Given the description of an element on the screen output the (x, y) to click on. 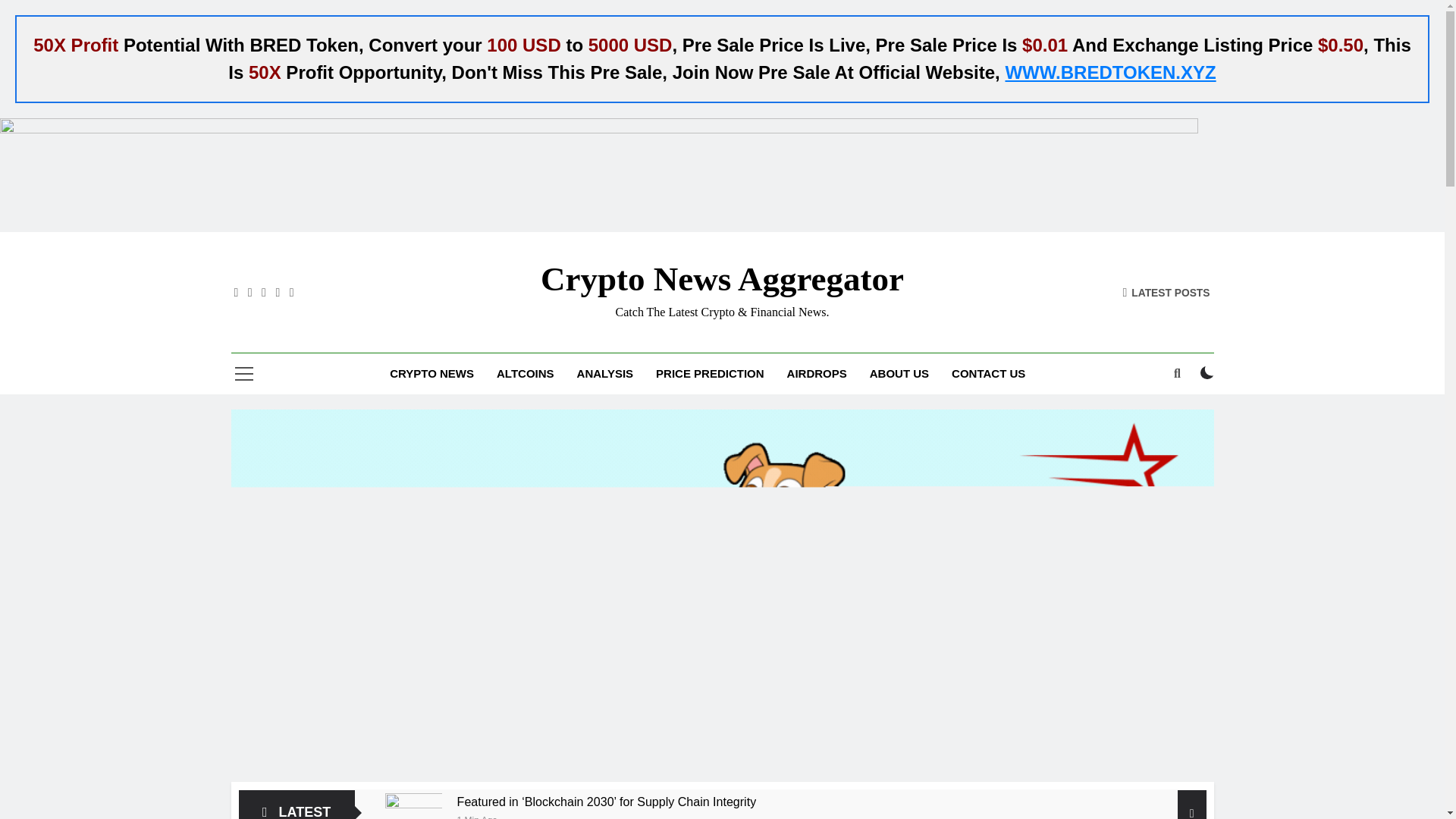
AIRDROPS (817, 372)
1 Min Ago (477, 816)
CRYPTO NEWS (431, 372)
LATEST POSTS (1165, 291)
Crypto News Aggregator (722, 279)
CONTACT US (988, 372)
ALTCOINS (525, 372)
WWW.BREDTOKEN.XYZ (1109, 72)
ANALYSIS (605, 372)
on (1206, 373)
